Given the description of an element on the screen output the (x, y) to click on. 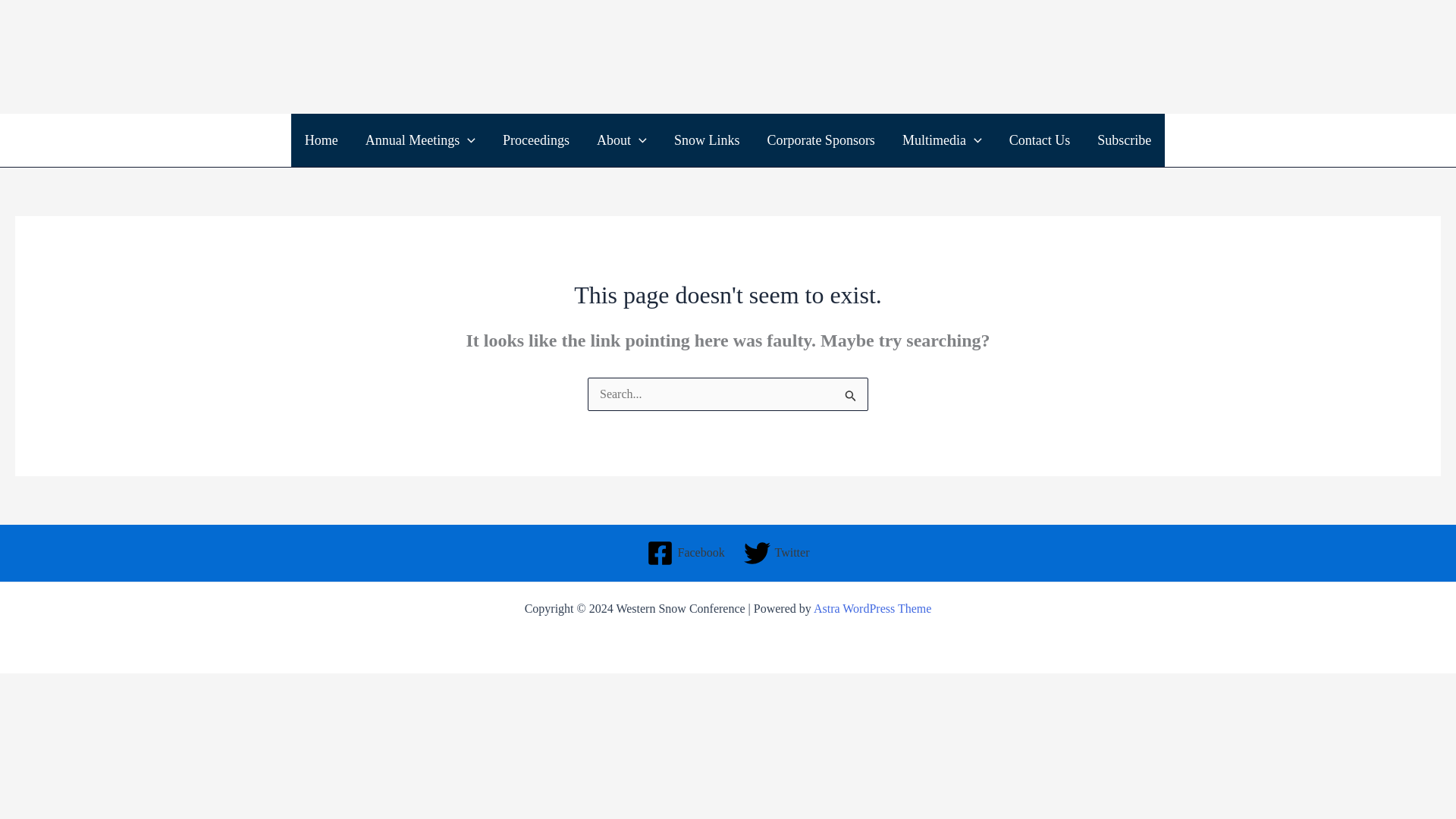
Corporate Sponsors (820, 140)
Search (850, 398)
Annual Meetings (420, 140)
Subscribe (1123, 140)
Multimedia (941, 140)
Search (850, 398)
Contact Us (1039, 140)
Proceedings (536, 140)
About (622, 140)
Home (321, 140)
Snow Links (707, 140)
